Given the description of an element on the screen output the (x, y) to click on. 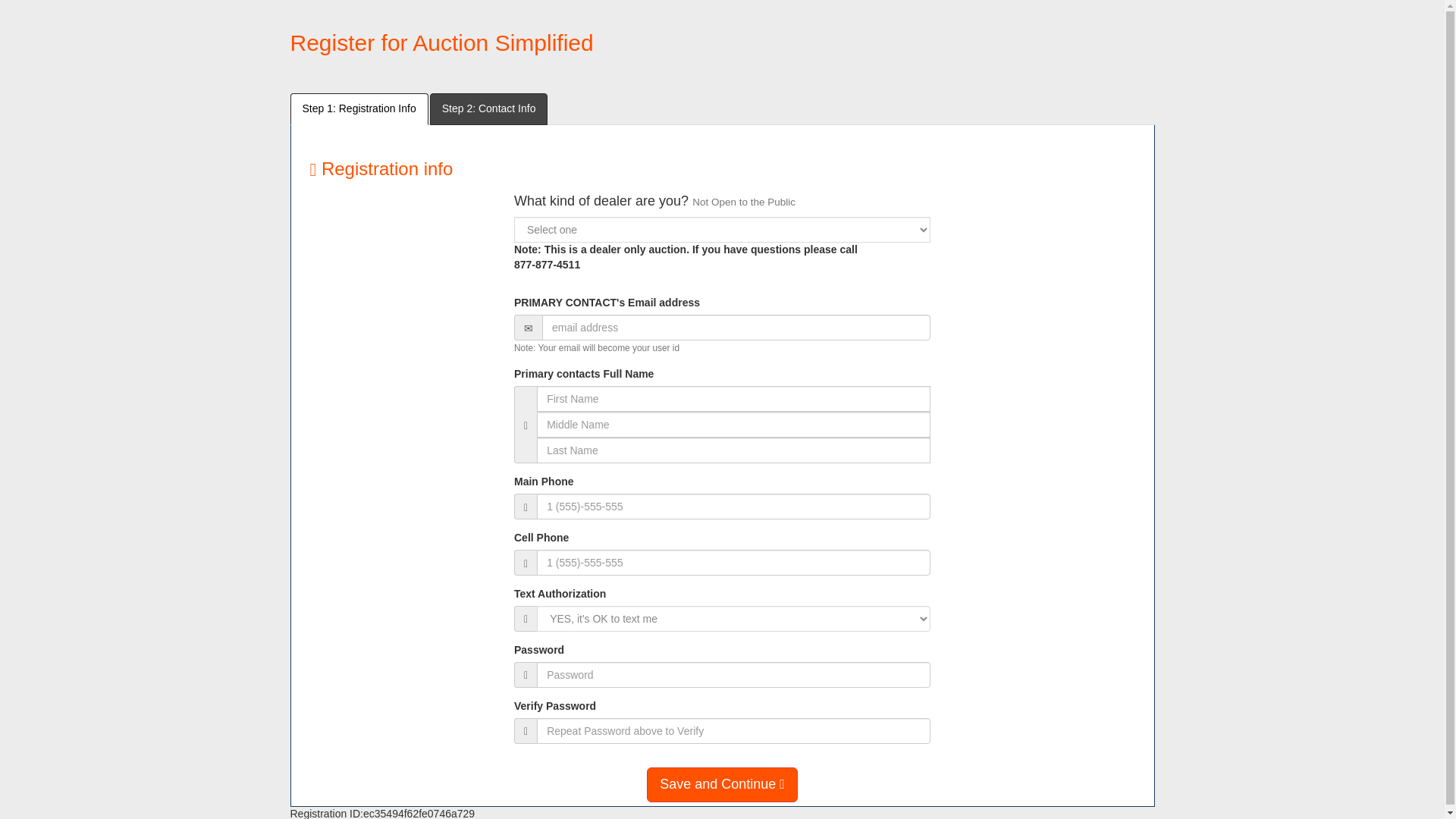
Save and Continue (721, 784)
Step 1: Registration Info (358, 109)
Step 2: Contact Info (488, 109)
